Given the description of an element on the screen output the (x, y) to click on. 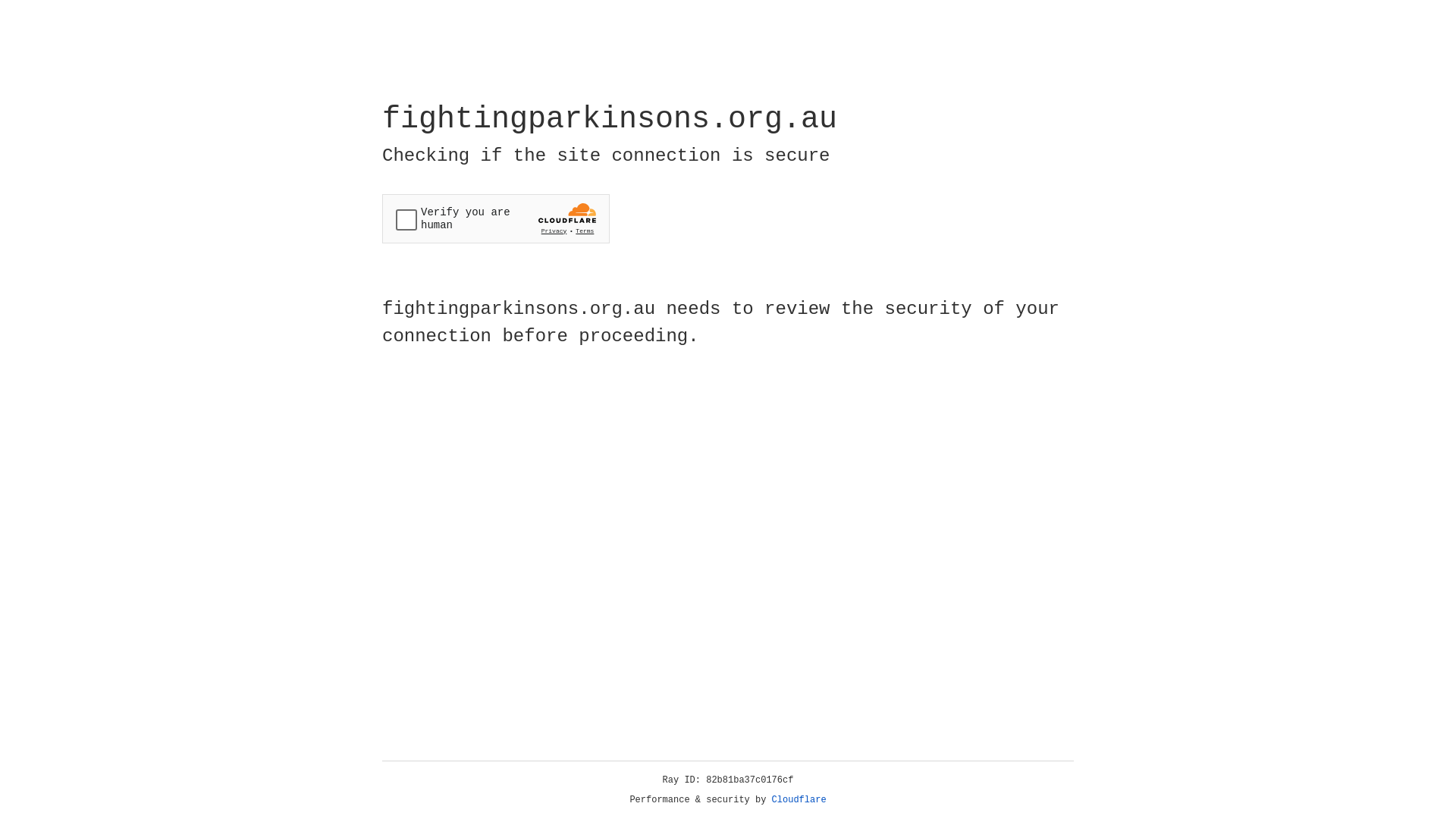
Cloudflare Element type: text (798, 799)
Widget containing a Cloudflare security challenge Element type: hover (495, 218)
